Given the description of an element on the screen output the (x, y) to click on. 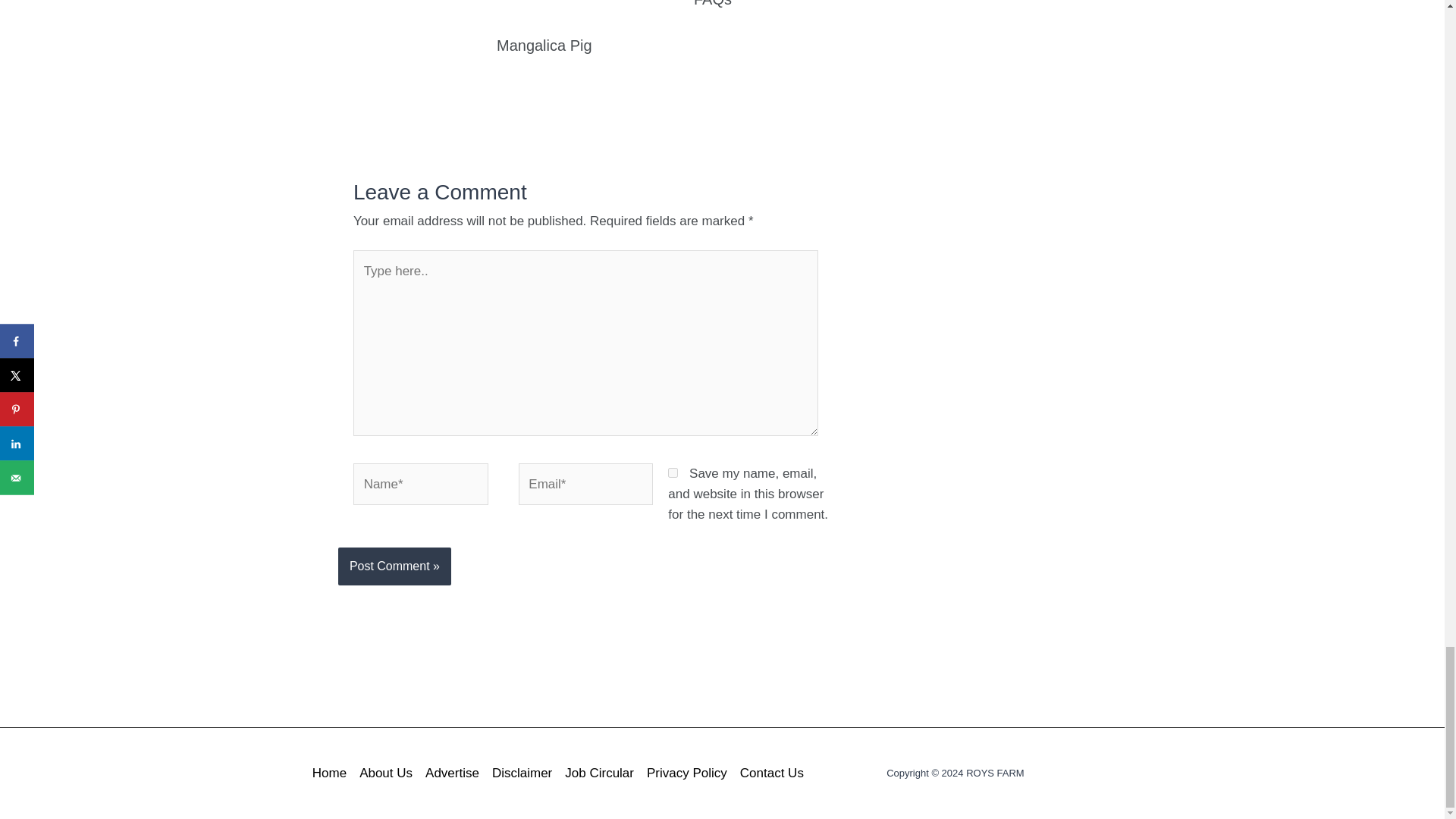
yes (673, 472)
